Given the description of an element on the screen output the (x, y) to click on. 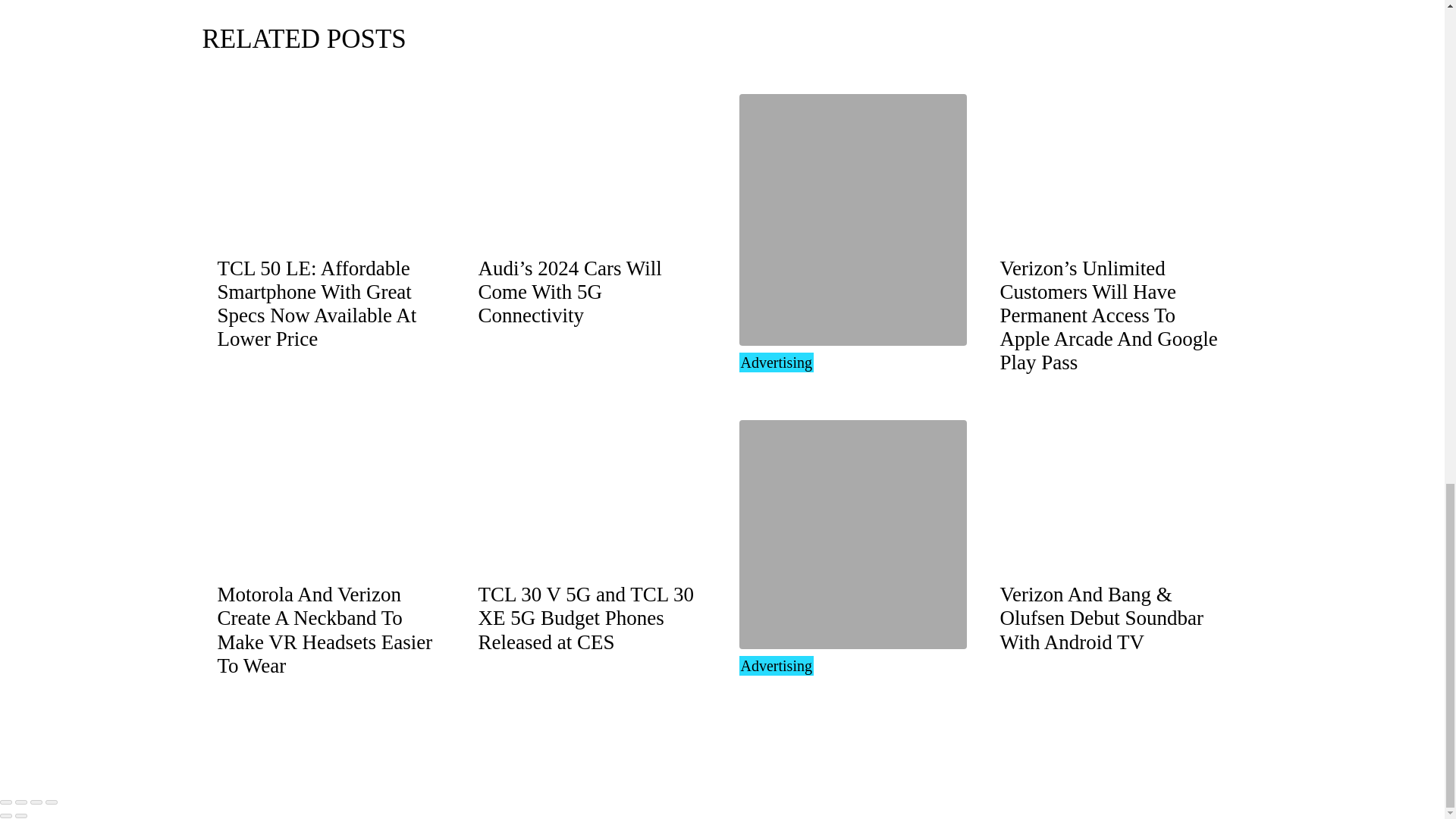
Toggle fullscreen (36, 802)
Share (20, 802)
